Given the description of an element on the screen output the (x, y) to click on. 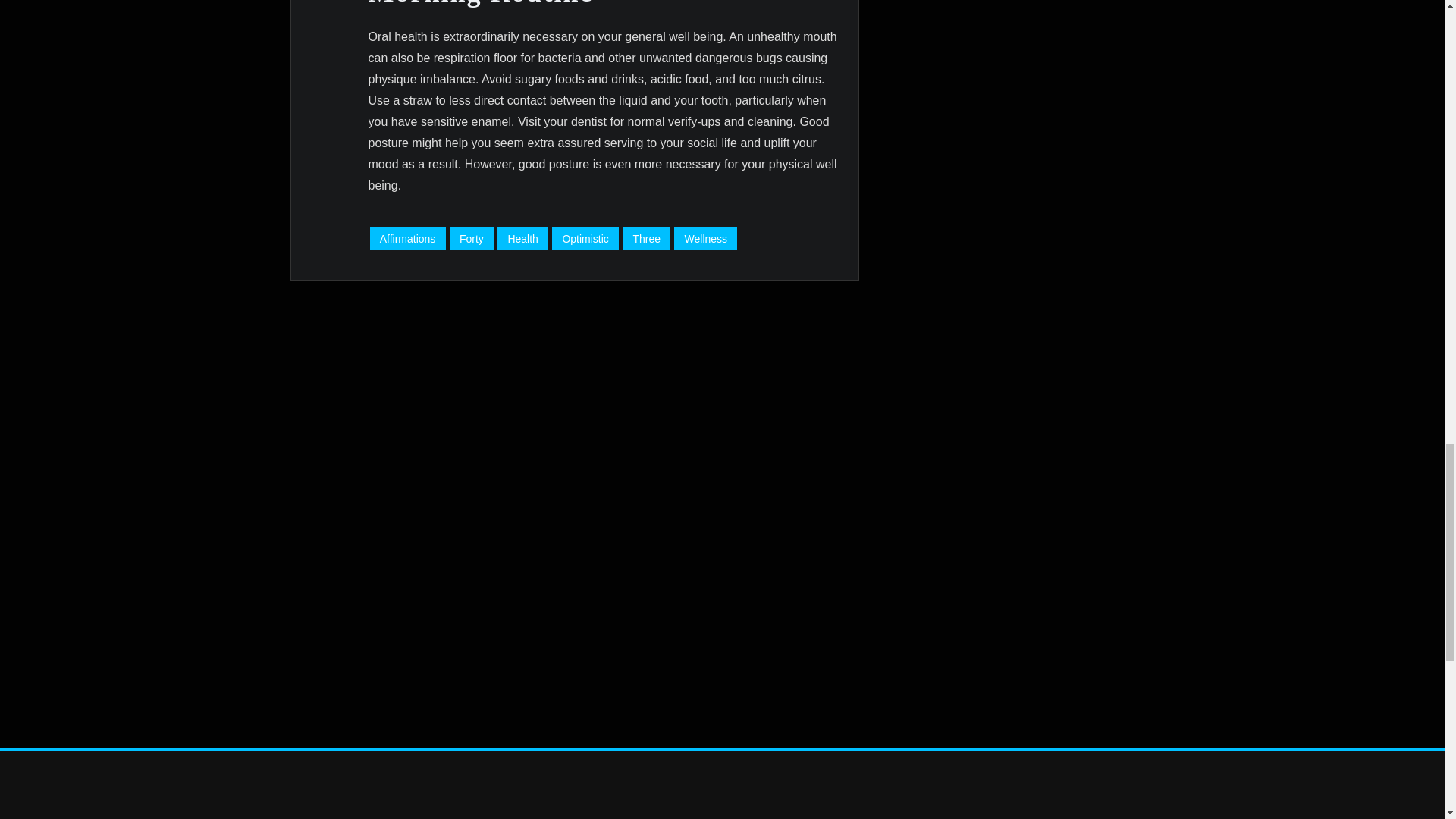
Three (646, 238)
Wellness (705, 238)
Forty (471, 238)
Affirmations (407, 238)
Health (522, 238)
Optimistic (584, 238)
